Given the description of an element on the screen output the (x, y) to click on. 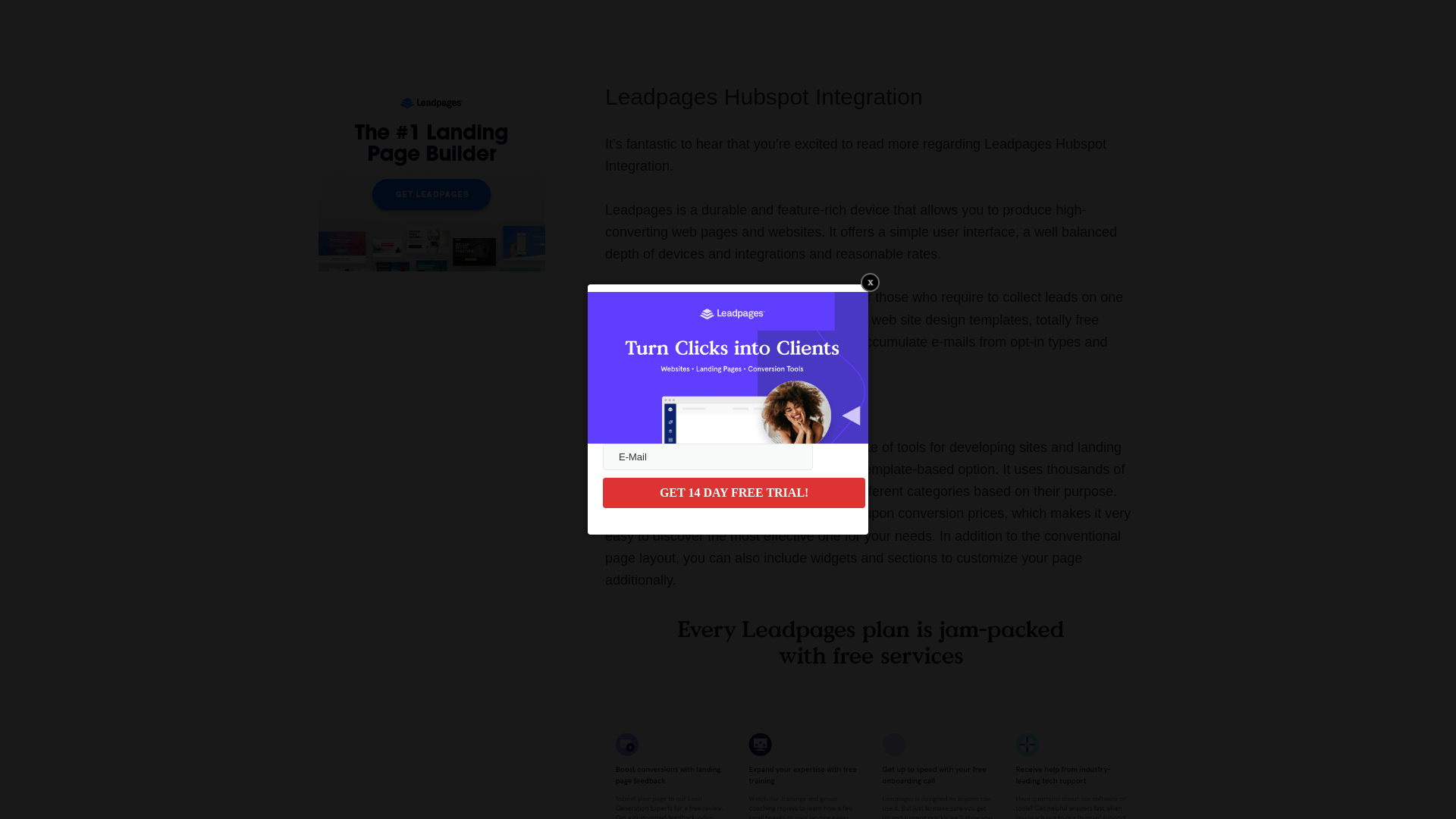
GET 14 DAY FREE TRIAL! (733, 492)
GET 14 DAY FREE TRIAL! (733, 492)
